Given the description of an element on the screen output the (x, y) to click on. 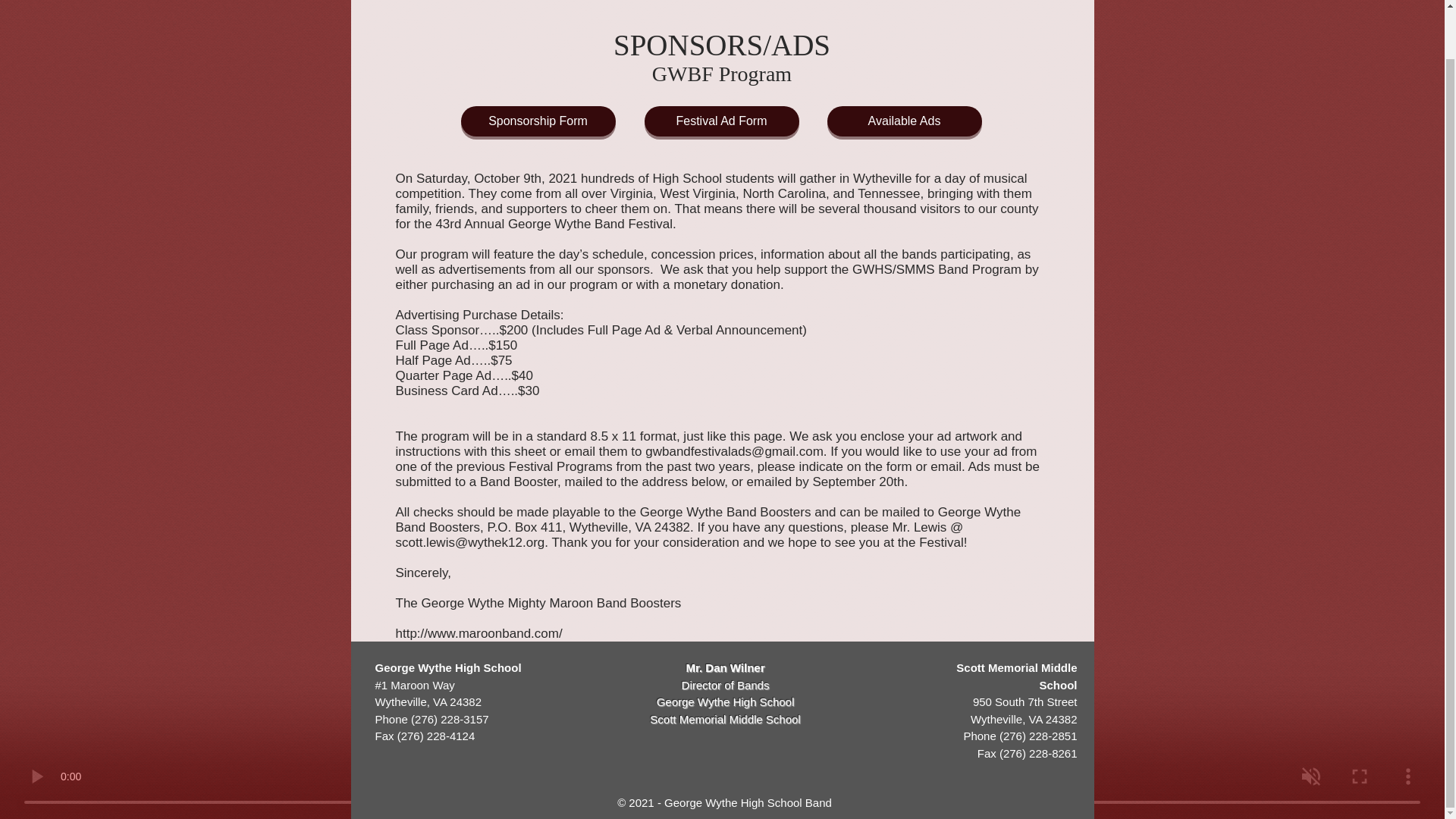
Festival Ad Form (722, 121)
Sponsorship Form (538, 121)
Available Ads (904, 121)
